Given the description of an element on the screen output the (x, y) to click on. 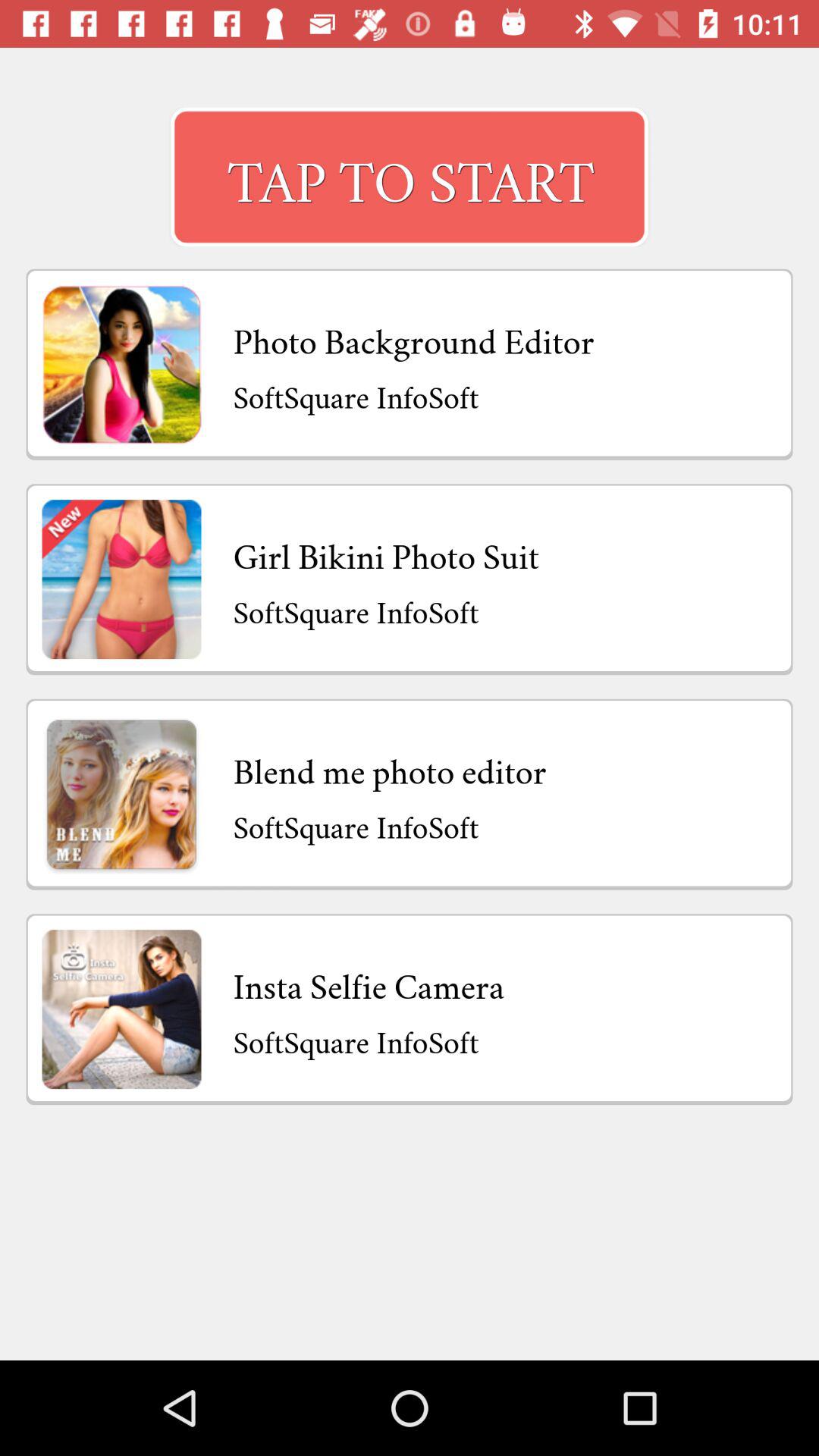
choose the item above the softsquare infosoft icon (368, 982)
